Given the description of an element on the screen output the (x, y) to click on. 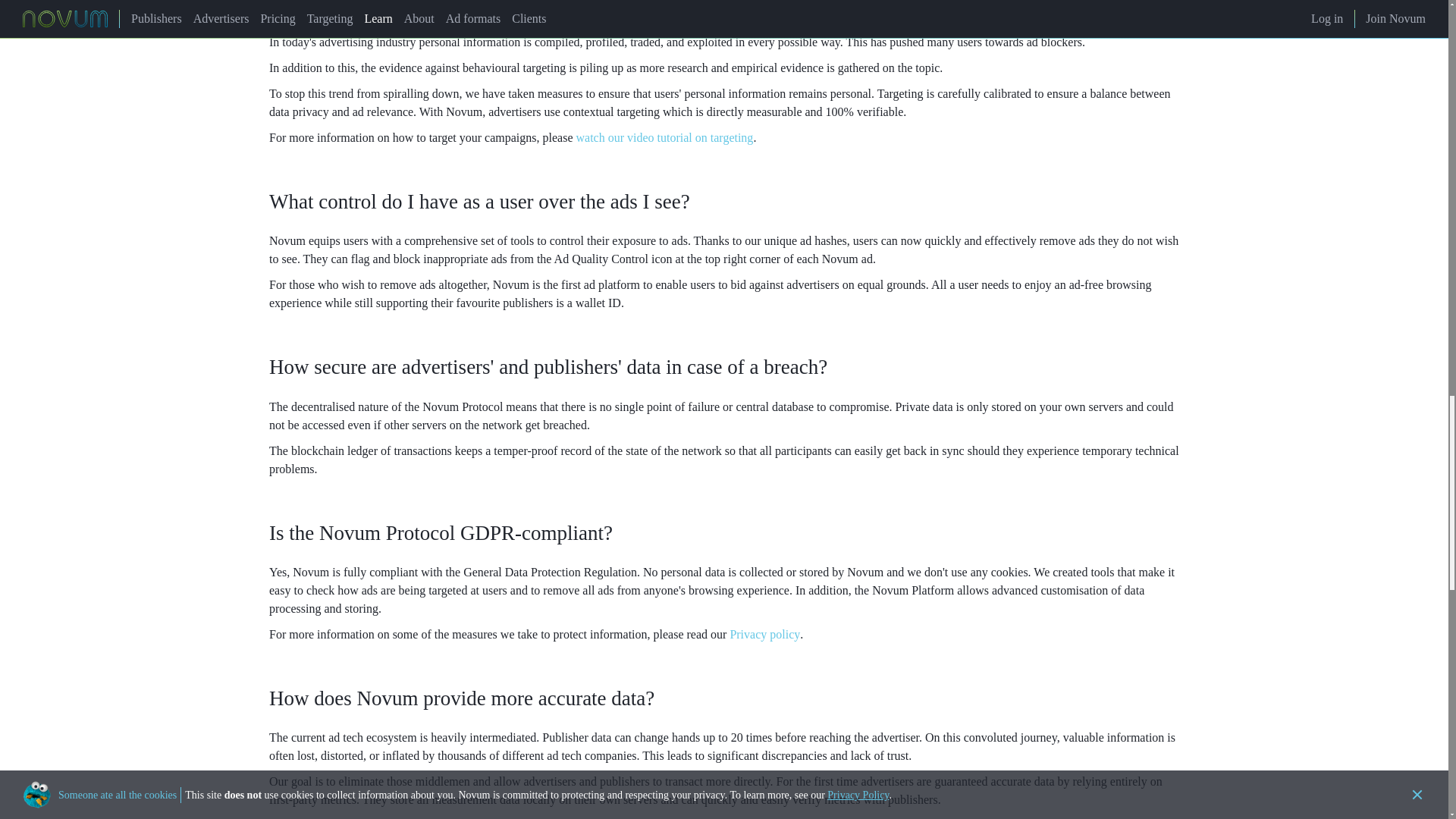
Privacy policy (765, 634)
watch our video tutorial on targeting (665, 137)
